Given the description of an element on the screen output the (x, y) to click on. 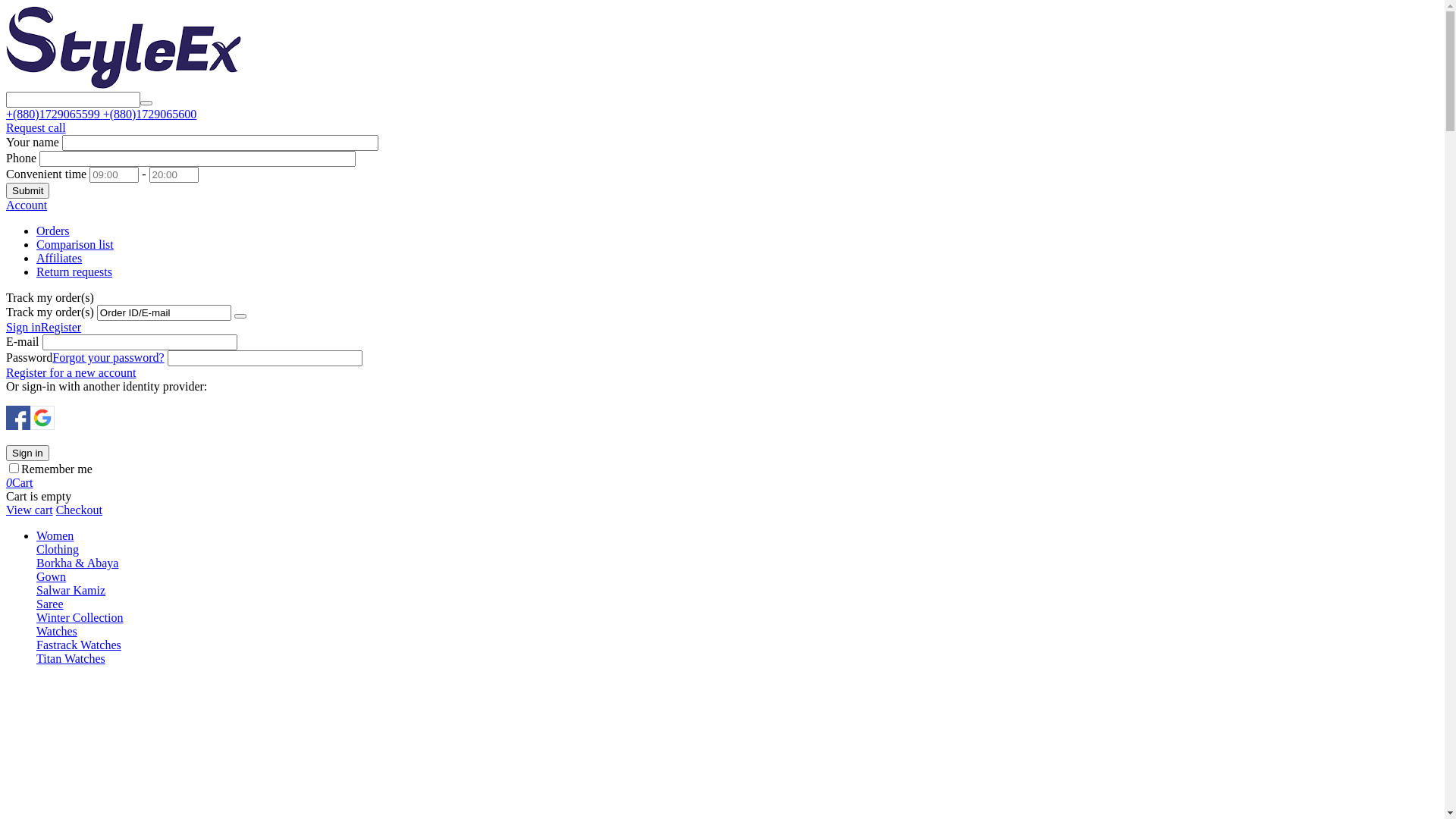
Search Element type: hover (146, 102)
Salwar Kamiz Element type: text (70, 589)
Orders Element type: text (52, 230)
facebook Element type: hover (18, 417)
Affiliates Element type: text (58, 257)
Request call Element type: text (35, 127)
Register Element type: text (60, 326)
Sign in Element type: text (27, 453)
+(880)1729065600 Element type: text (150, 113)
Borkha & Abaya Element type: text (77, 562)
Saree Element type: text (49, 603)
Register for a new account Element type: text (70, 372)
Winter Collection Element type: text (79, 617)
+(880)1729065599 Element type: text (54, 113)
Titan Watches Element type: text (70, 658)
Clothing Element type: text (57, 548)
Return requests Element type: text (74, 271)
Forgot your password? Element type: text (107, 357)
Submit Element type: text (27, 190)
Watches Element type: text (56, 630)
Sign in Element type: text (23, 326)
Comparison list Element type: text (74, 244)
Search products Element type: hover (73, 99)
Account Element type: text (26, 204)
Fastrack Watches Element type: text (78, 644)
Gown Element type: text (50, 576)
Go Element type: hover (240, 315)
Women Element type: text (54, 535)
google Element type: hover (42, 417)
0Cart Element type: text (19, 482)
Checkout Element type: text (79, 509)
View cart Element type: text (29, 509)
